Given the description of an element on the screen output the (x, y) to click on. 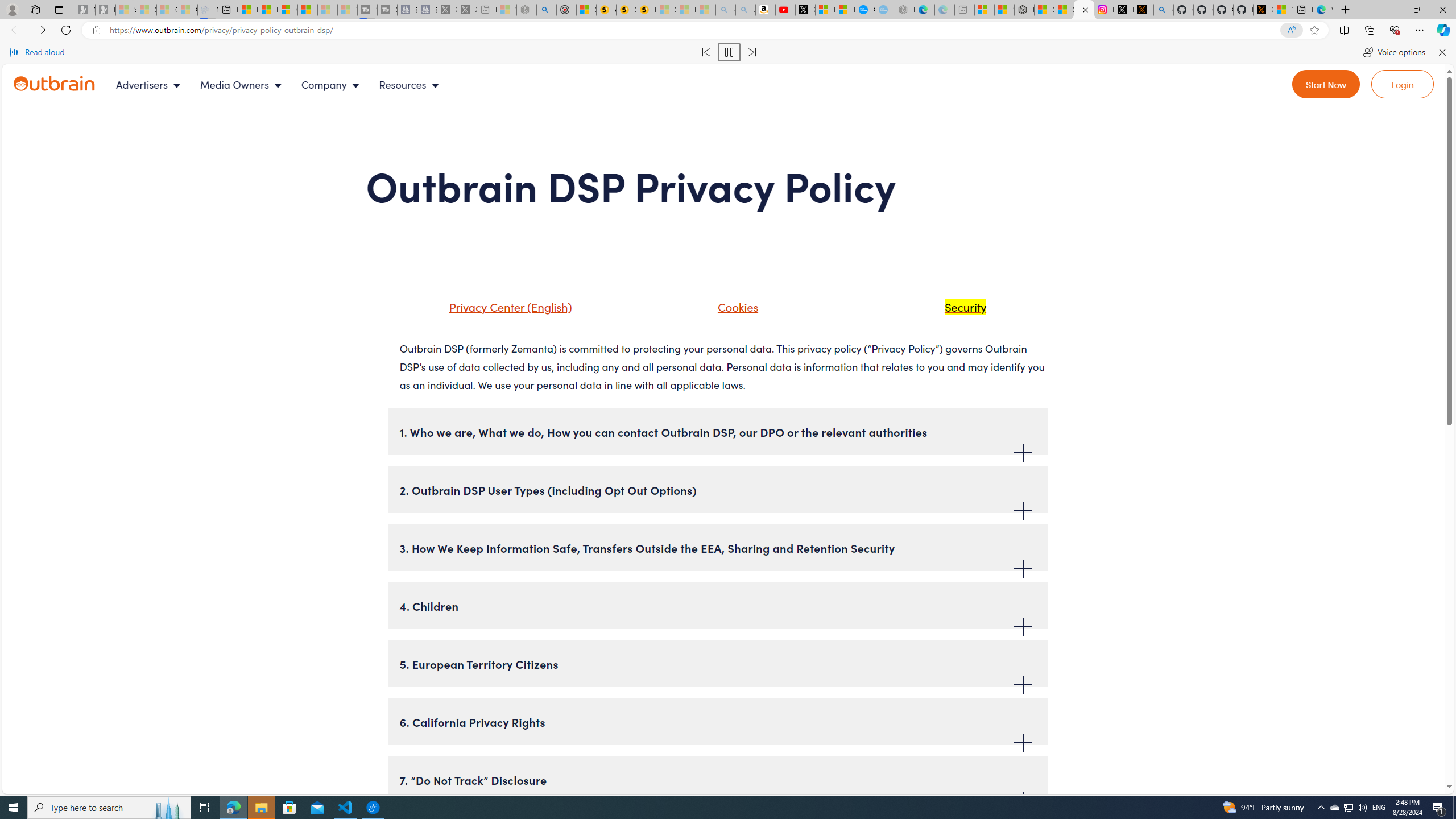
Privacy Center (English) (495, 311)
6. California Privacy Rights (717, 721)
View site information (96, 29)
Microsoft account | Microsoft Account Privacy Settings (983, 9)
Outbrain logo - link to homepage (67, 84)
Privacy Center (English) (507, 305)
Read next paragraph (750, 52)
